Given the description of an element on the screen output the (x, y) to click on. 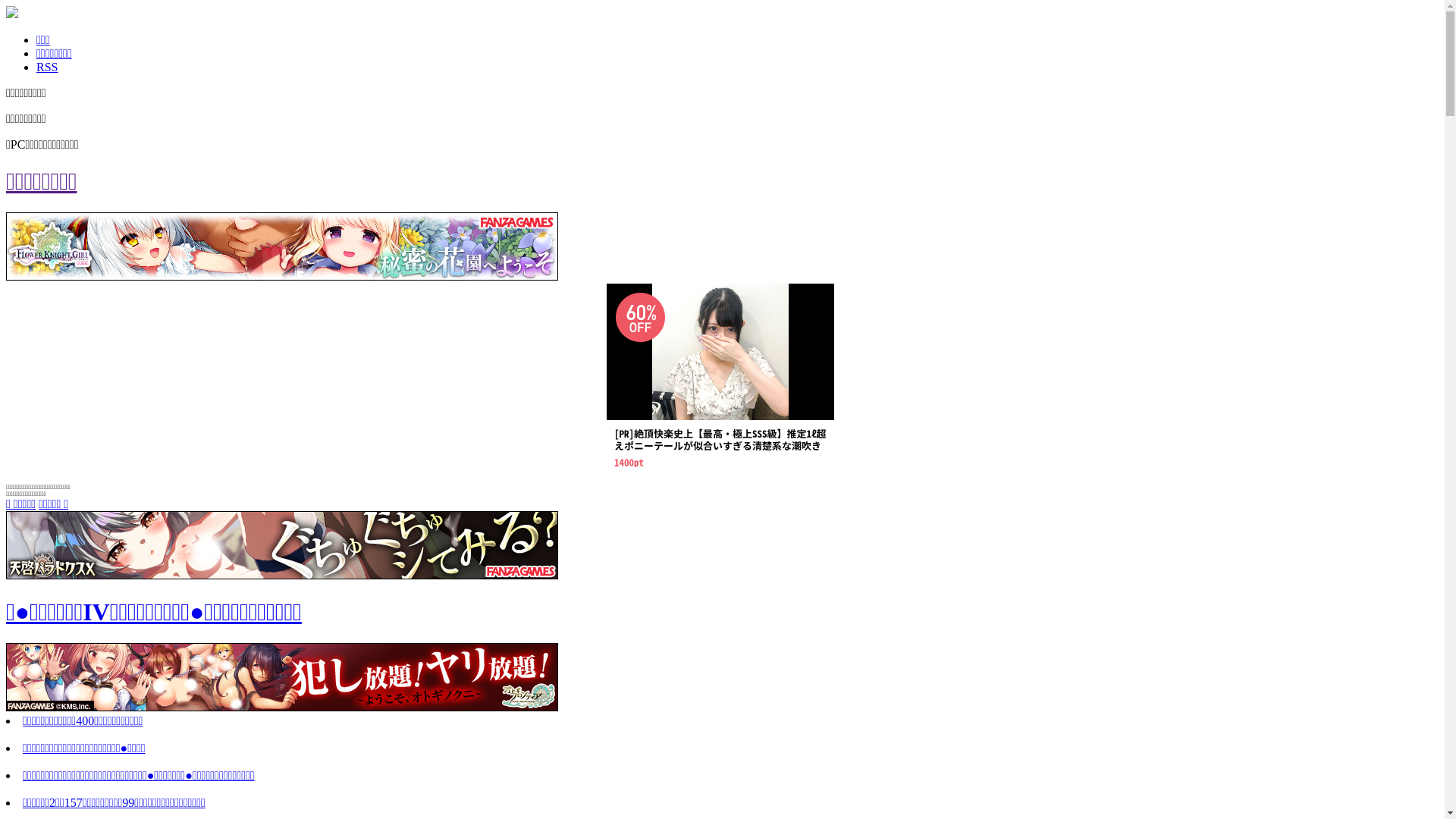
RSS Element type: text (46, 66)
